Given the description of an element on the screen output the (x, y) to click on. 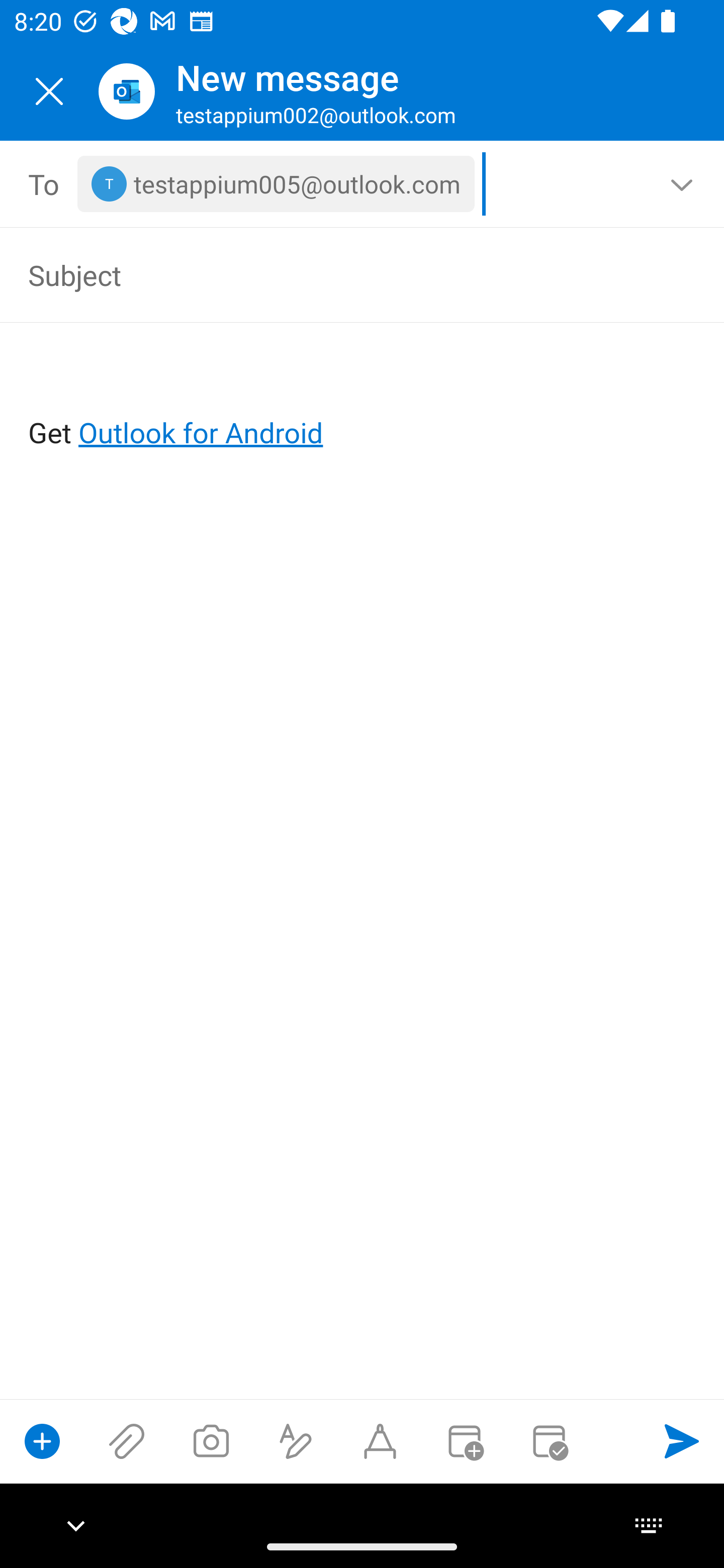
Close (49, 91)
Subject (333, 274)


Get Outlook for Android (363, 400)
Show compose options (42, 1440)
Attach files (126, 1440)
Take a photo (210, 1440)
Show formatting options (295, 1440)
Start Ink compose (380, 1440)
Convert to event (464, 1440)
Send availability (548, 1440)
Send (681, 1440)
